Given the description of an element on the screen output the (x, y) to click on. 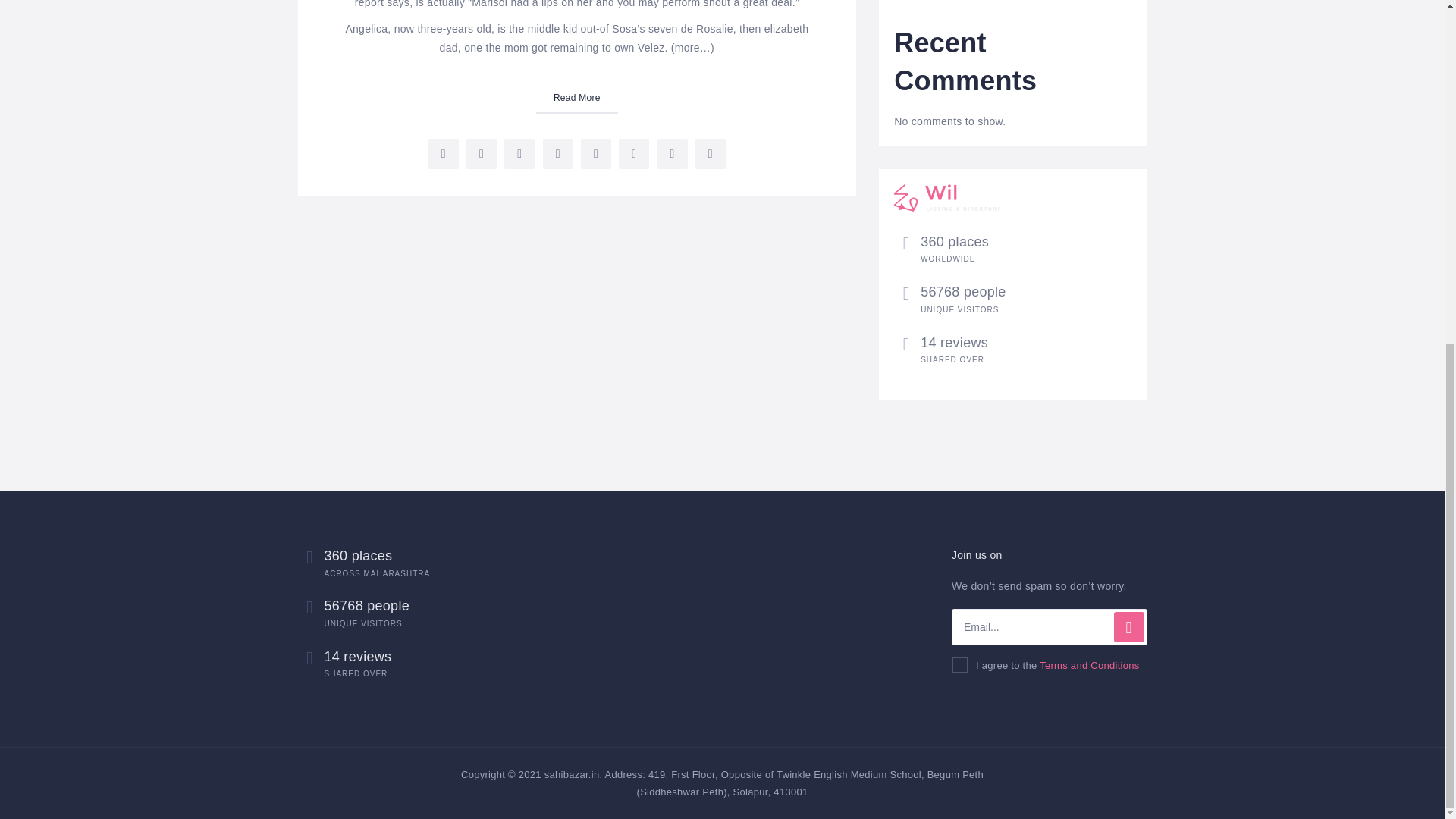
Read More (576, 98)
